Given the description of an element on the screen output the (x, y) to click on. 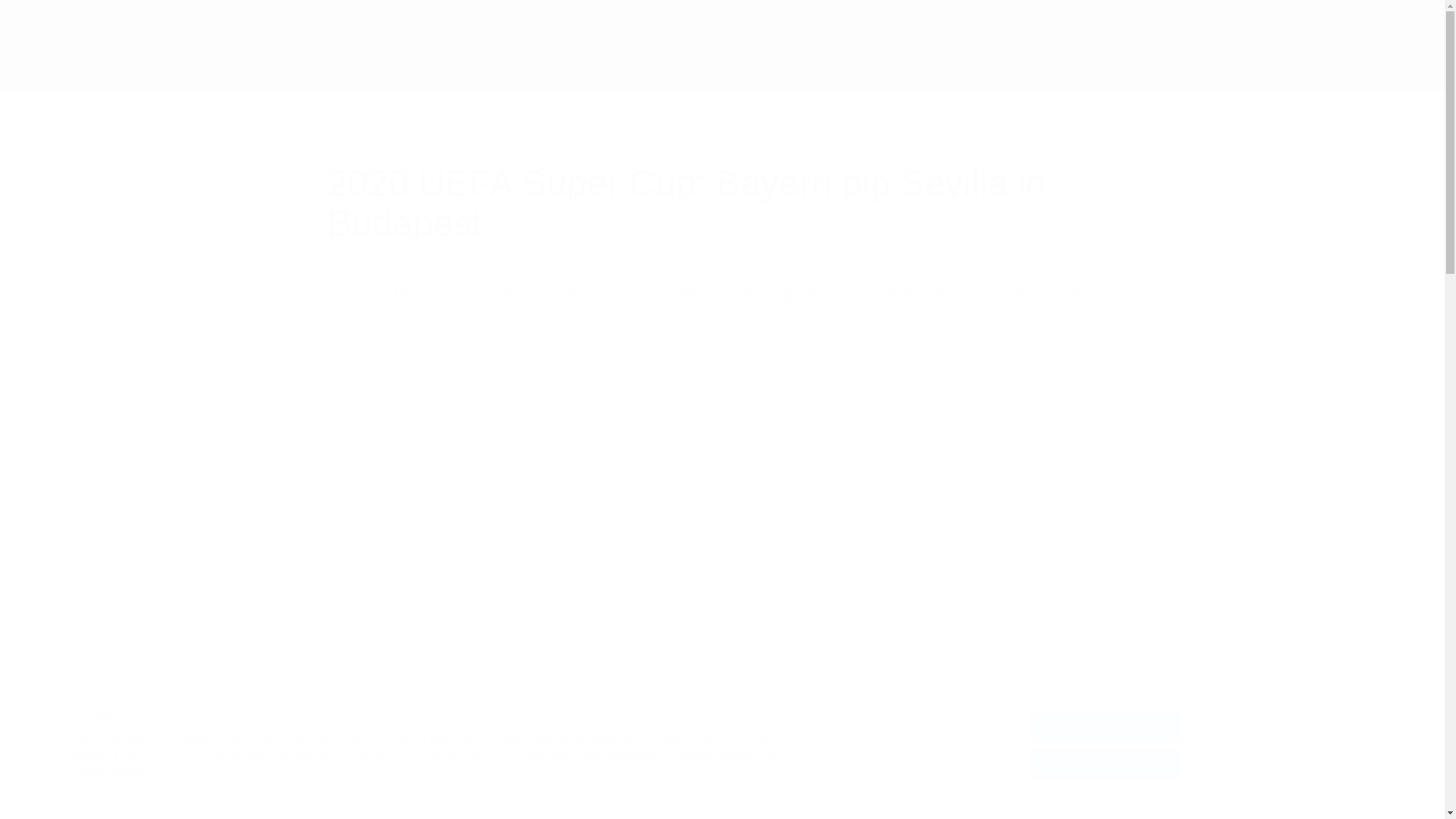
Cookie settings (1104, 806)
Accept all (1104, 733)
UEFA Super Cup (225, 60)
Reject all (1104, 772)
Cookie Policy (177, 767)
UEFA Super Cup (225, 60)
